Given the description of an element on the screen output the (x, y) to click on. 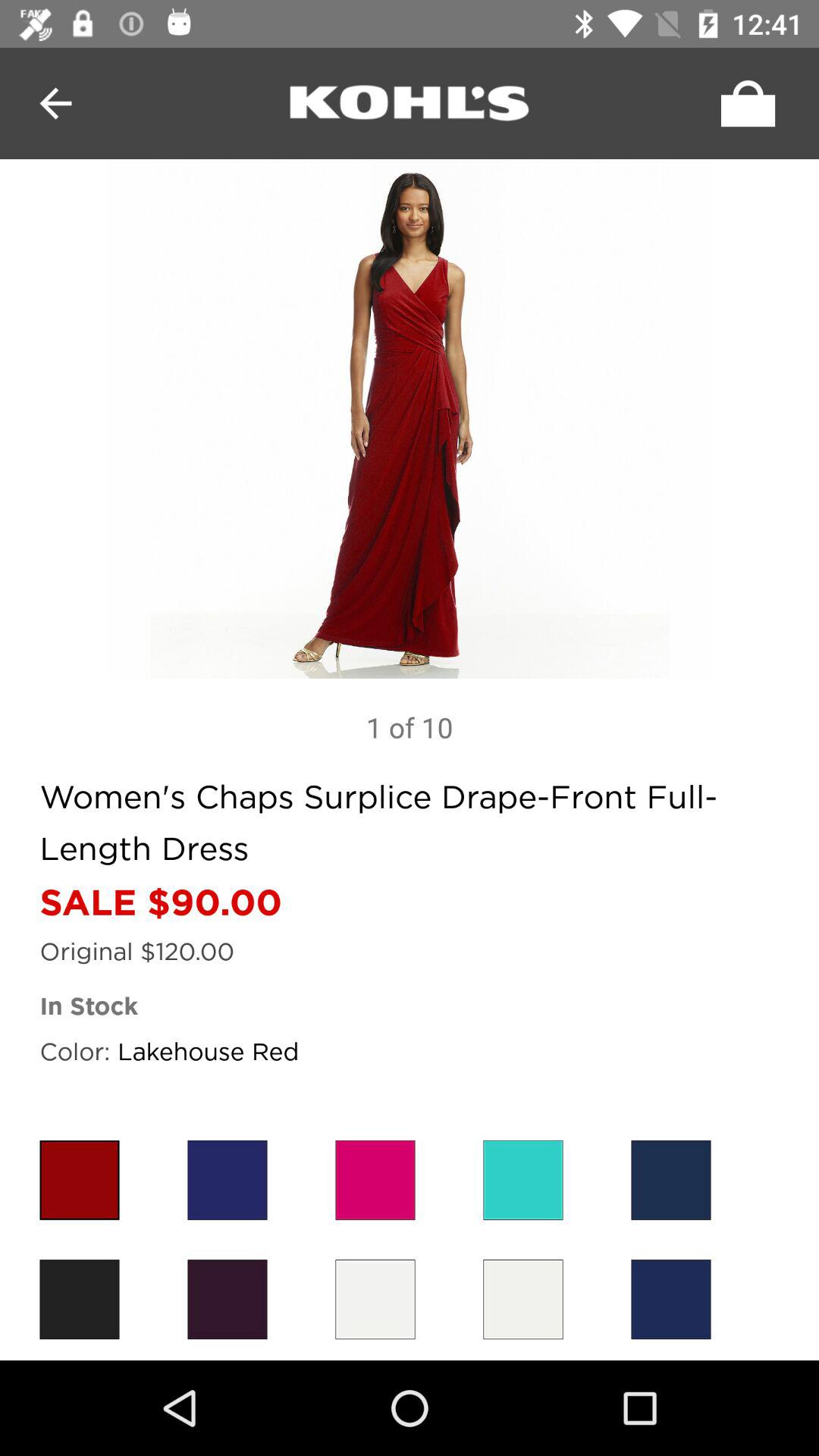
go to choose the colour (523, 1179)
